Given the description of an element on the screen output the (x, y) to click on. 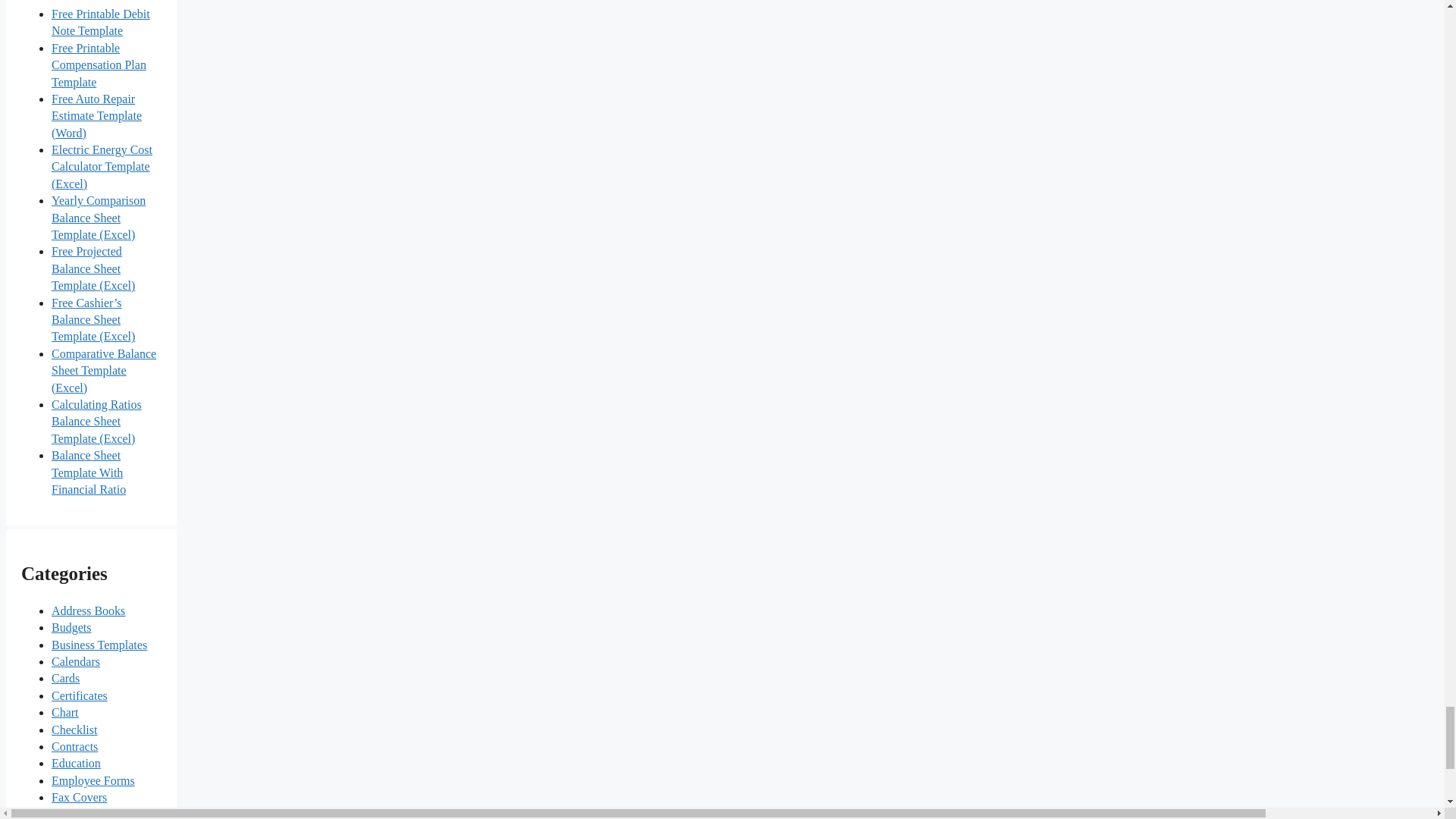
Free Printable Debit Note Template (99, 21)
Free Printable Compensation Plan Template (98, 64)
Address Books (87, 610)
Business Templates (98, 644)
Budgets (70, 626)
Education (75, 762)
Contracts (73, 746)
Certificates (78, 695)
Cards (65, 677)
Checklist (73, 729)
